Given the description of an element on the screen output the (x, y) to click on. 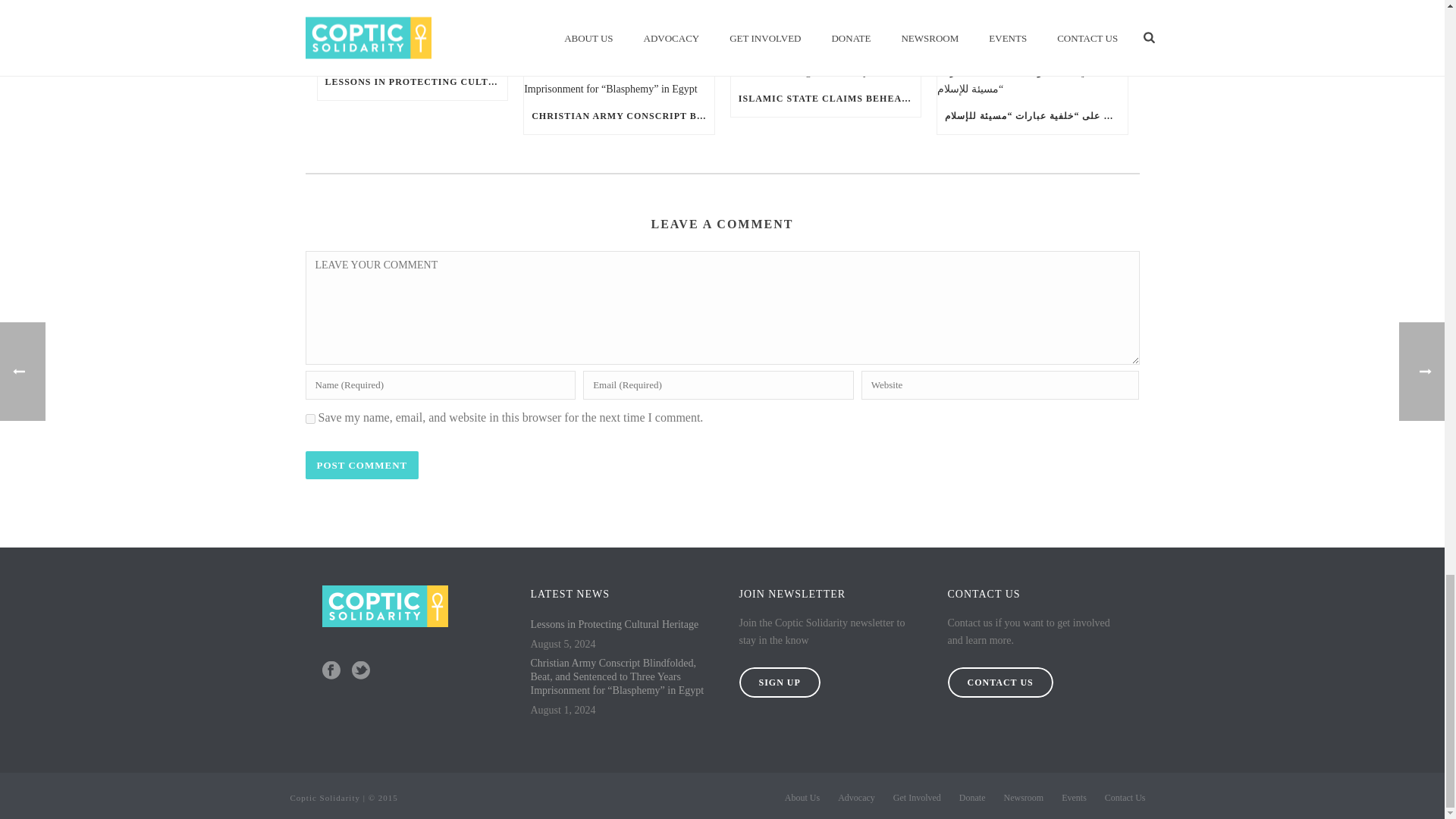
SIGN UP (778, 682)
CONTACT US (999, 682)
 facebook (330, 670)
Lessons in Protecting Cultural Heritage (411, 54)
POST COMMENT (361, 465)
yes (309, 419)
 twitter (360, 670)
